Given the description of an element on the screen output the (x, y) to click on. 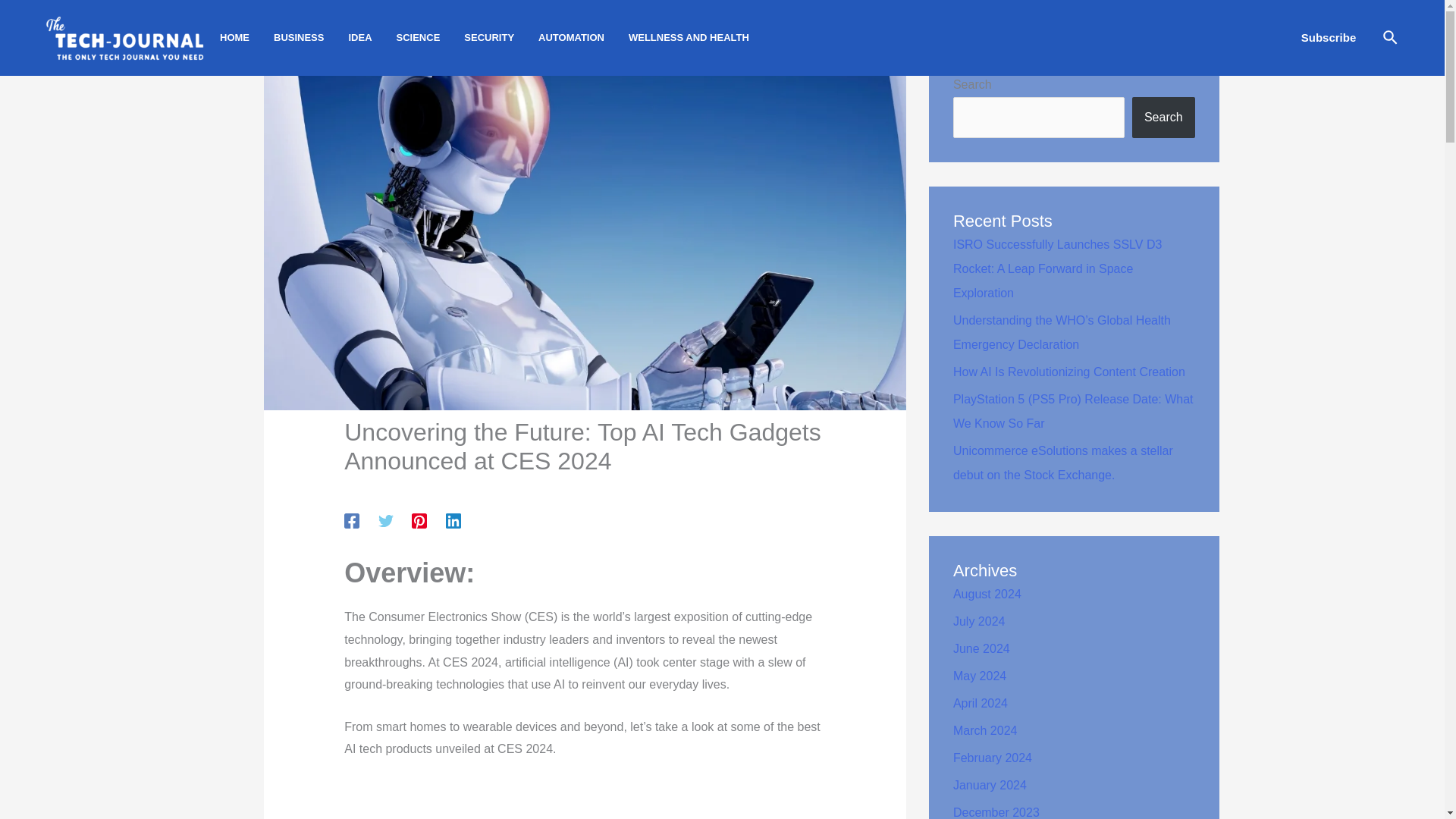
SECURITY (501, 38)
Advertisement (584, 799)
WELLNESS AND HEALTH (700, 38)
SCIENCE (430, 38)
Subscribe (1328, 37)
AUTOMATION (583, 38)
BUSINESS (310, 38)
